Given the description of an element on the screen output the (x, y) to click on. 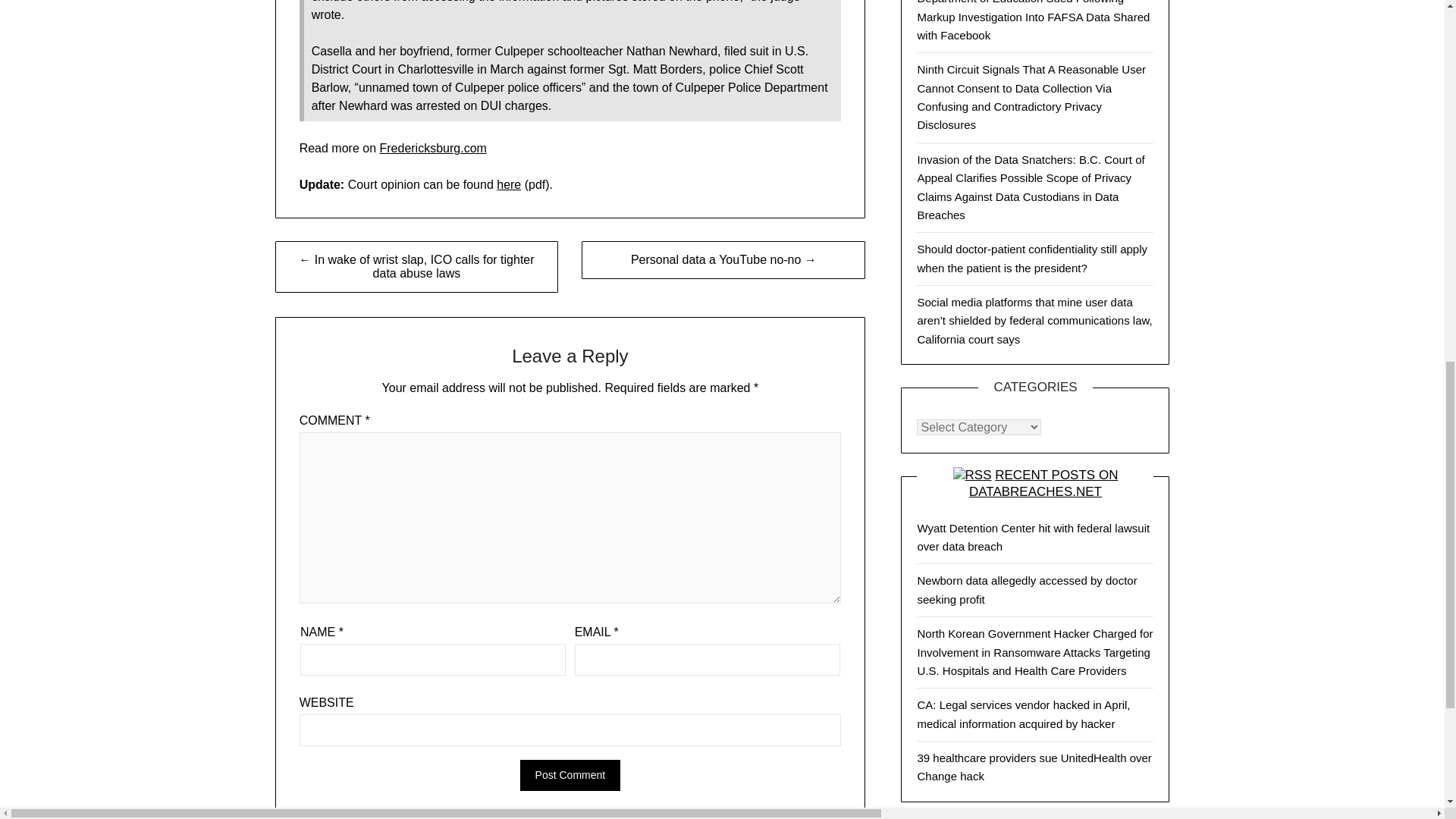
Newborn data allegedly accessed by doctor seeking profit (1027, 589)
RECENT POSTS ON DATABREACHES.NET (1043, 482)
39 healthcare providers sue UnitedHealth over Change hack (1034, 766)
Post Comment (570, 775)
Post Comment (570, 775)
here (508, 184)
Fredericksburg.com (432, 147)
